Given the description of an element on the screen output the (x, y) to click on. 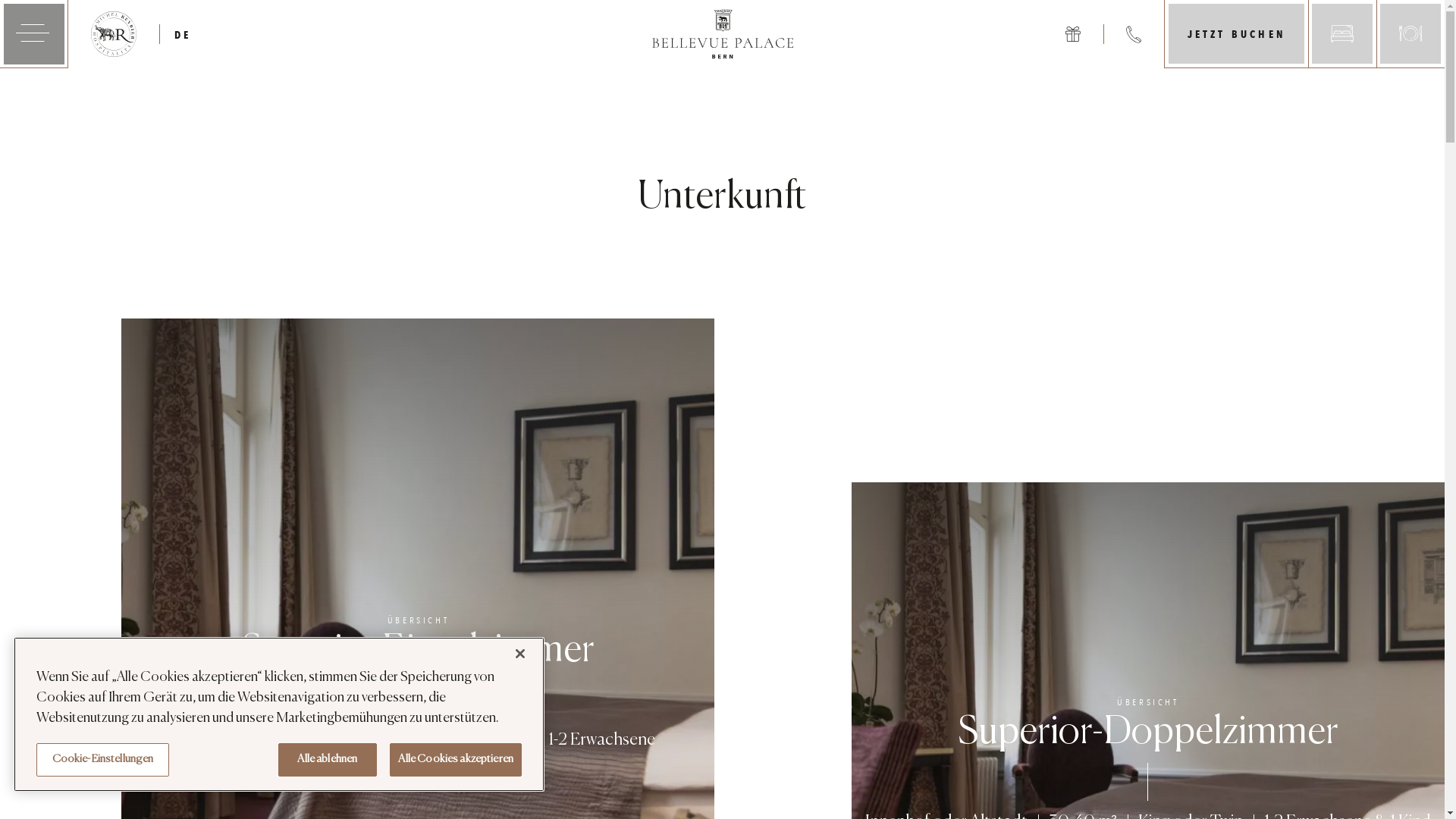
Alle Cookies akzeptieren Element type: text (455, 759)
Cookie-Einstellungen Element type: text (102, 759)
Alle ablehnen Element type: text (327, 759)
